Given the description of an element on the screen output the (x, y) to click on. 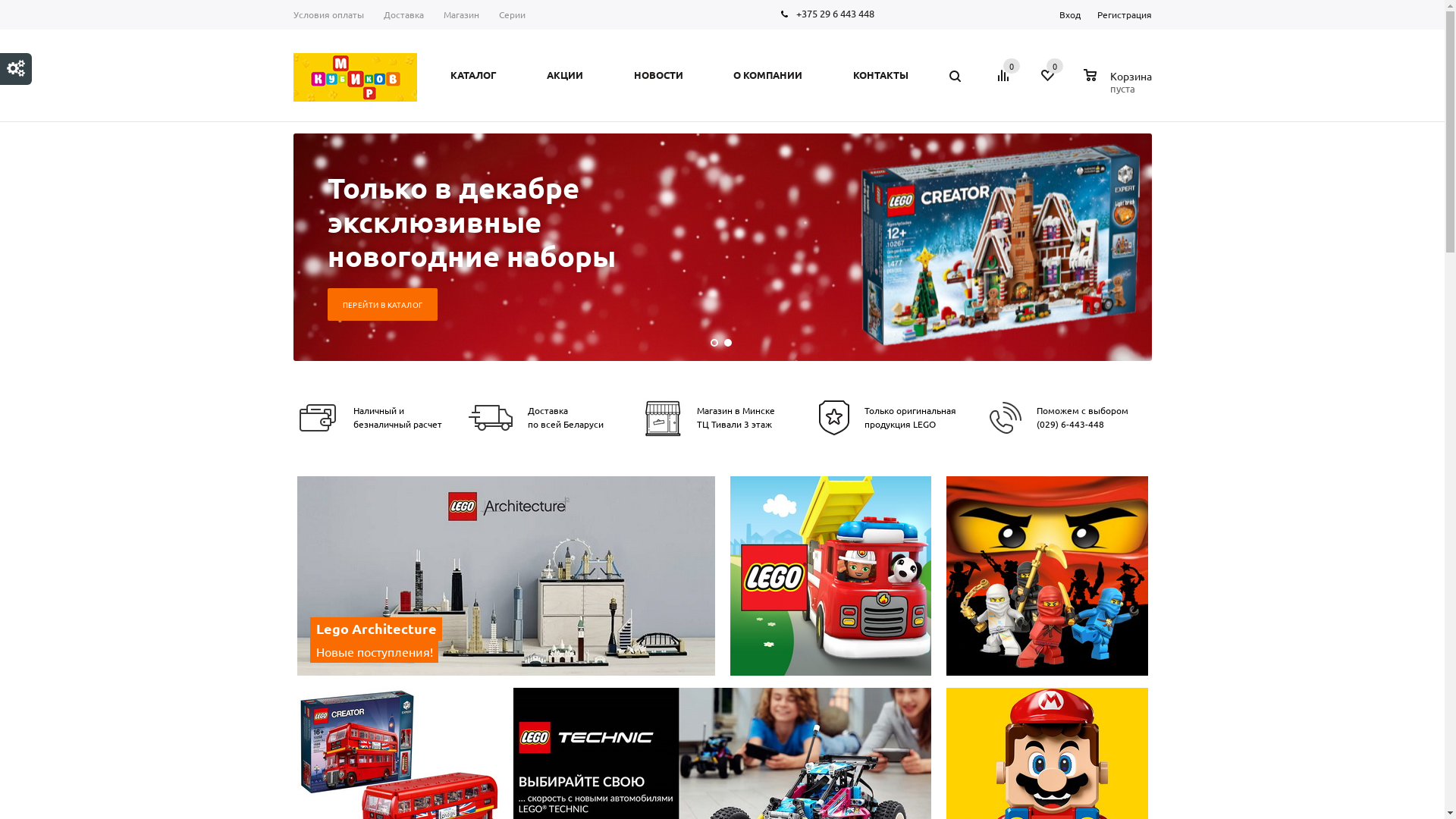
Duplo Element type: hover (830, 577)
Duplo Element type: hover (830, 575)
+375 29 6 443 448 Element type: text (835, 12)
1 Element type: text (713, 342)
theme Element type: hover (15, 68)
LEGO Ninjago Element type: hover (1047, 575)
Lego Architecture Element type: text (381, 628)
Lego Architecture Element type: hover (507, 577)
Lego Architecture Element type: hover (506, 575)
2 Element type: text (727, 342)
LEGO Ninjago Element type: hover (1047, 577)
